Given the description of an element on the screen output the (x, y) to click on. 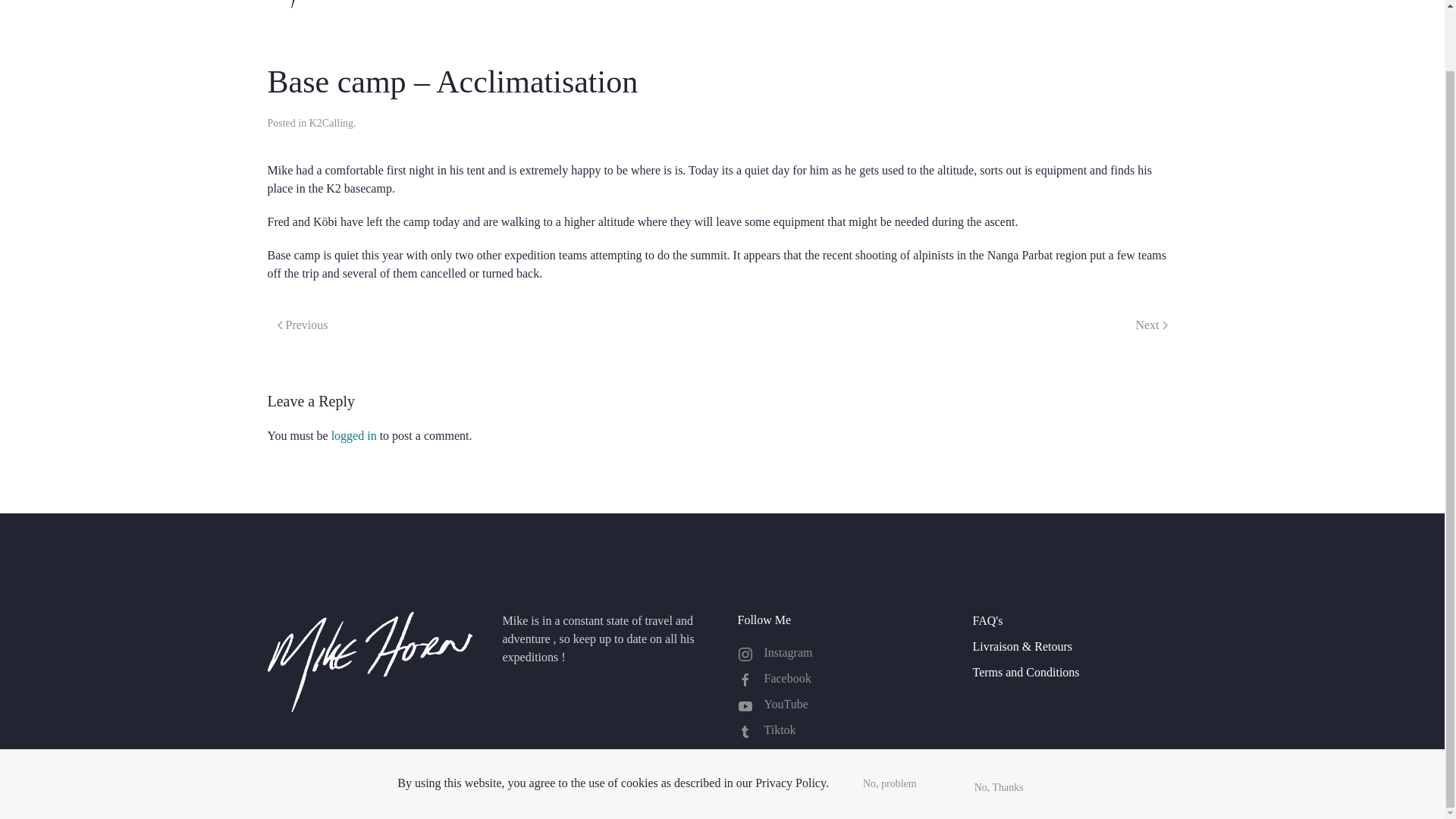
Instagram (839, 652)
YouTube (839, 704)
No, problem (890, 717)
Previous (301, 324)
Next (1150, 324)
Facebook (839, 678)
K2Calling (330, 122)
FAQ's (1074, 620)
Tiktok (839, 730)
Terms and Conditions (1074, 672)
logged in (354, 435)
